Given the description of an element on the screen output the (x, y) to click on. 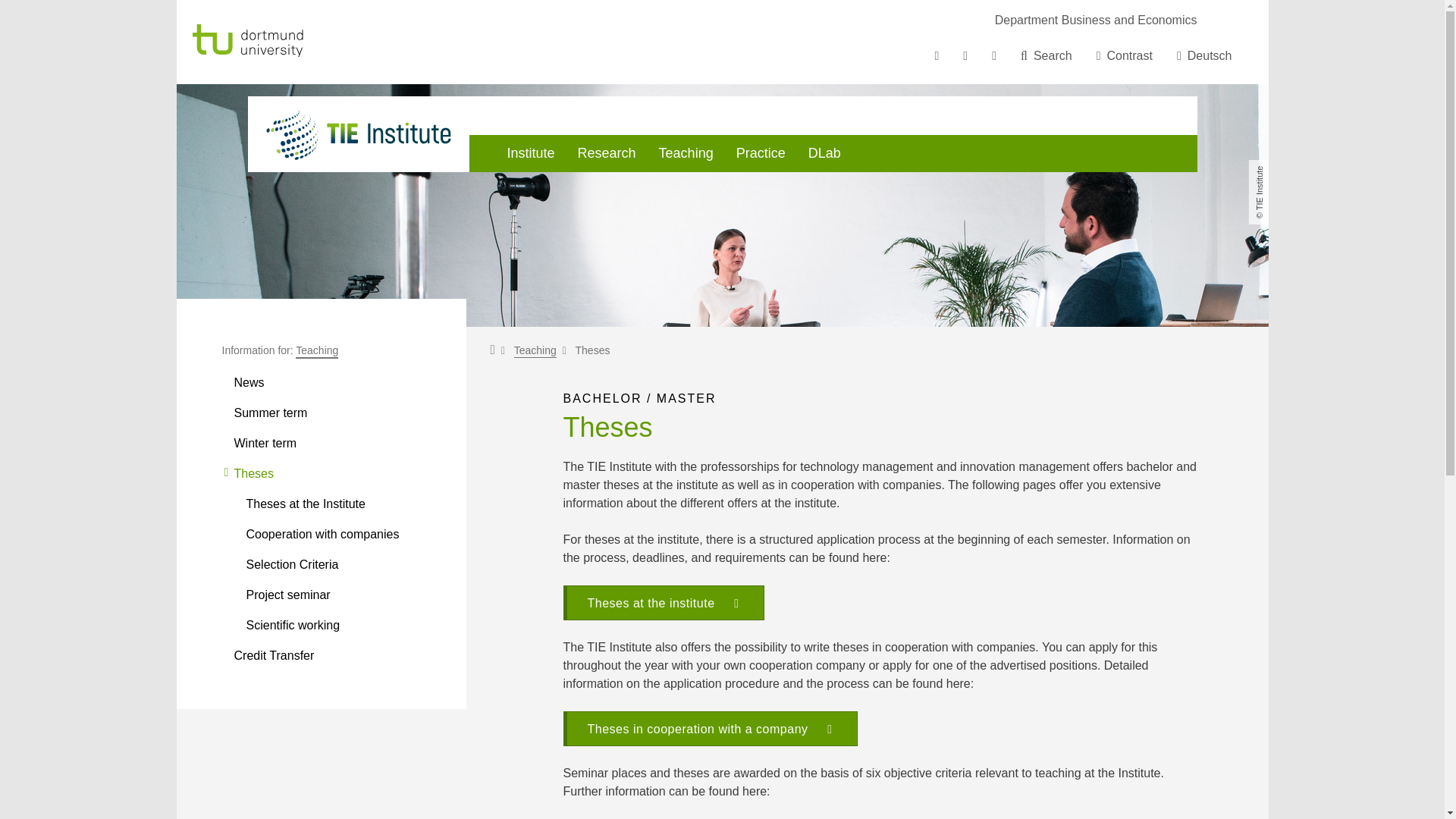
UniMail (994, 55)
Deutsch (1204, 55)
Contrast (1124, 55)
Search (1046, 55)
Department Business and Economics (1095, 19)
Contrast (1124, 55)
ServicePortal (964, 55)
Search (1046, 55)
To the home page (286, 40)
